Given the description of an element on the screen output the (x, y) to click on. 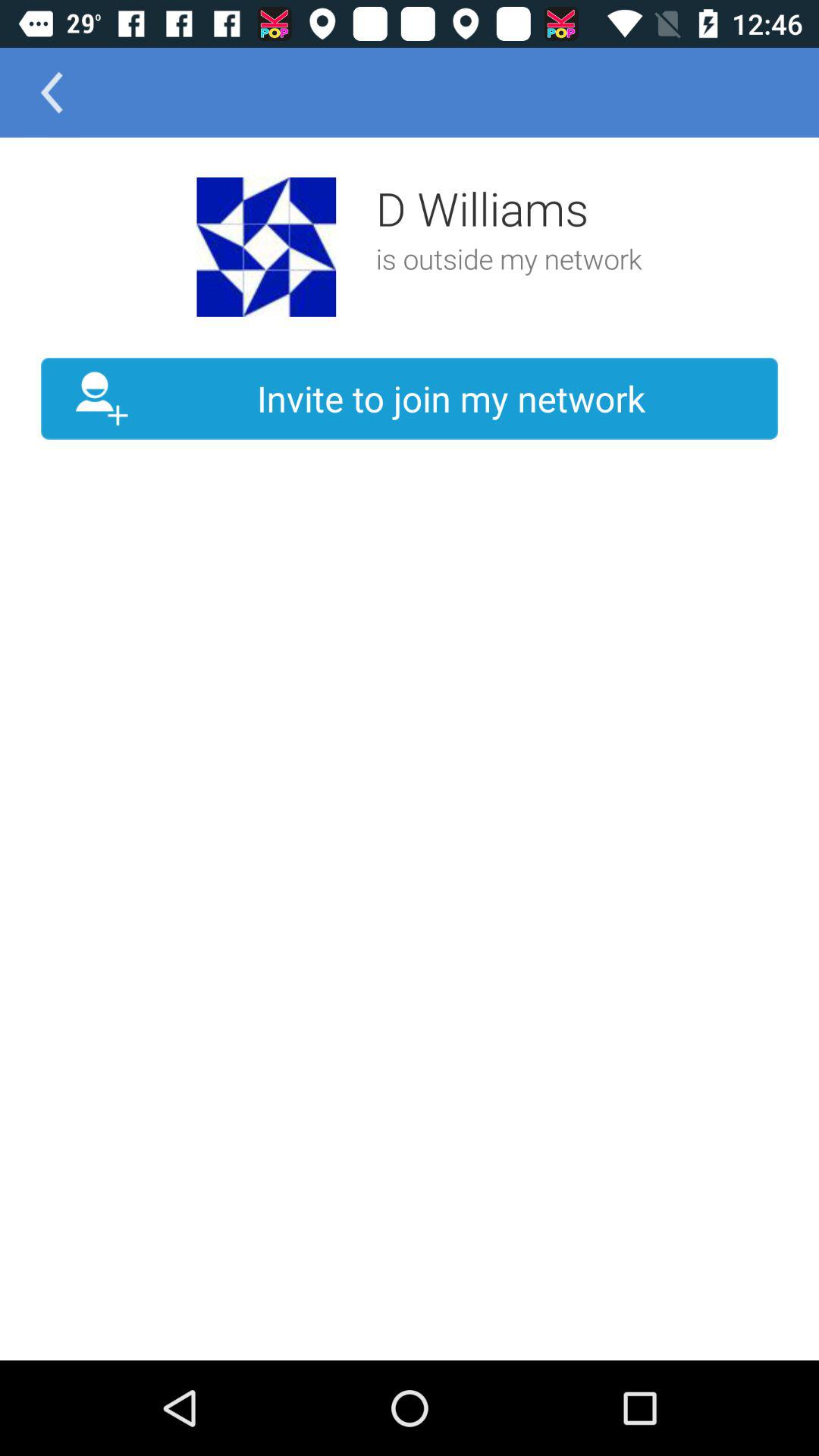
select icon above the invite to join item (266, 246)
